Given the description of an element on the screen output the (x, y) to click on. 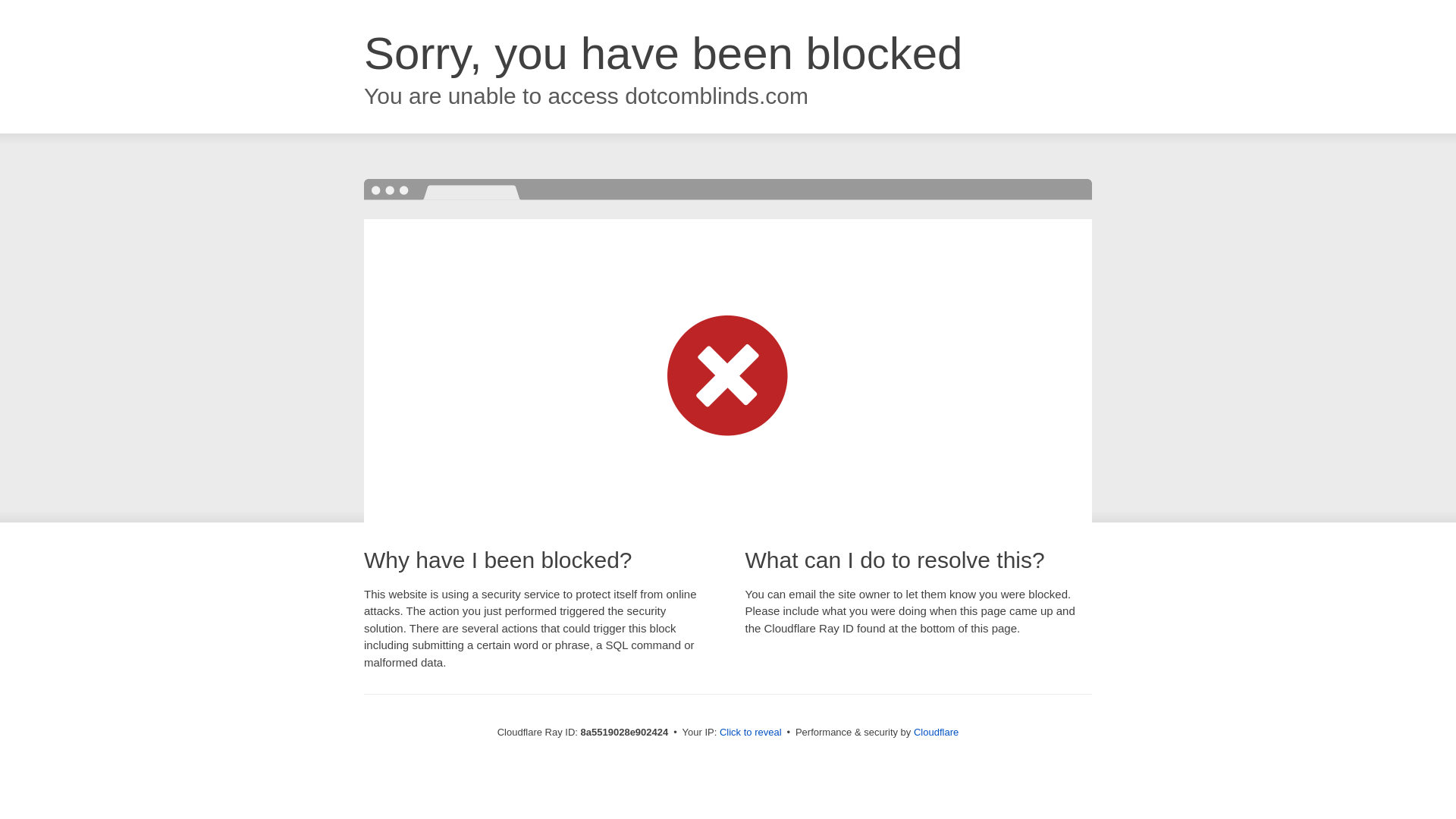
Cloudflare (936, 731)
Click to reveal (750, 732)
